Given the description of an element on the screen output the (x, y) to click on. 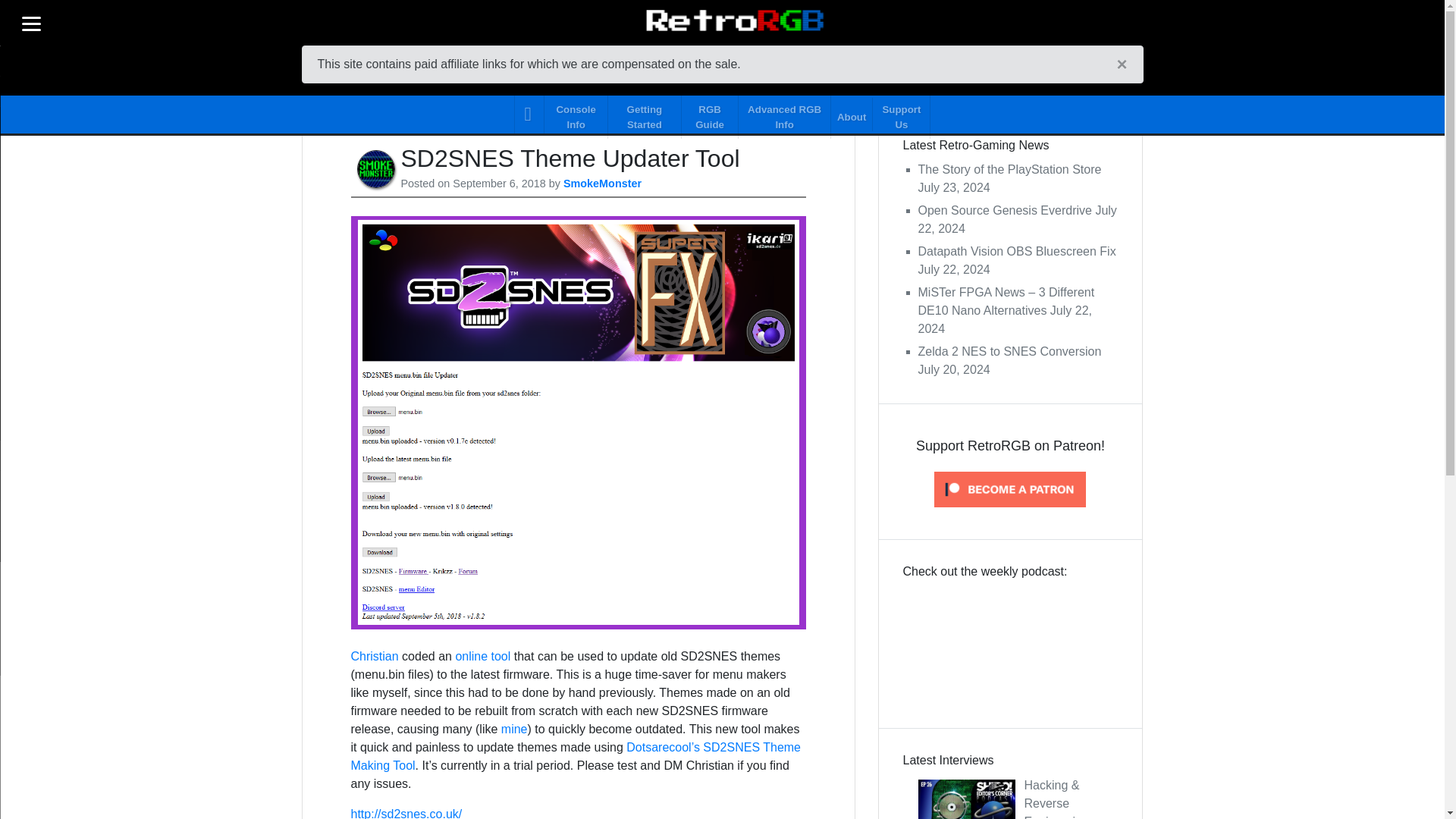
mine (513, 728)
SmokeMonster (602, 183)
Advanced RGB Info (783, 114)
September 6, 2018 (498, 183)
About (851, 114)
Christian (373, 656)
Open Source Genesis Everdrive (1003, 210)
RetroRGB Weekly Roundup (1010, 641)
The Story of the PlayStation Store (1008, 169)
Getting Started (644, 114)
Datapath Vision OBS Bluescreen Fix (1016, 250)
online tool (482, 656)
Support Us (901, 114)
RGB Guide (709, 114)
Console Info (575, 114)
